Given the description of an element on the screen output the (x, y) to click on. 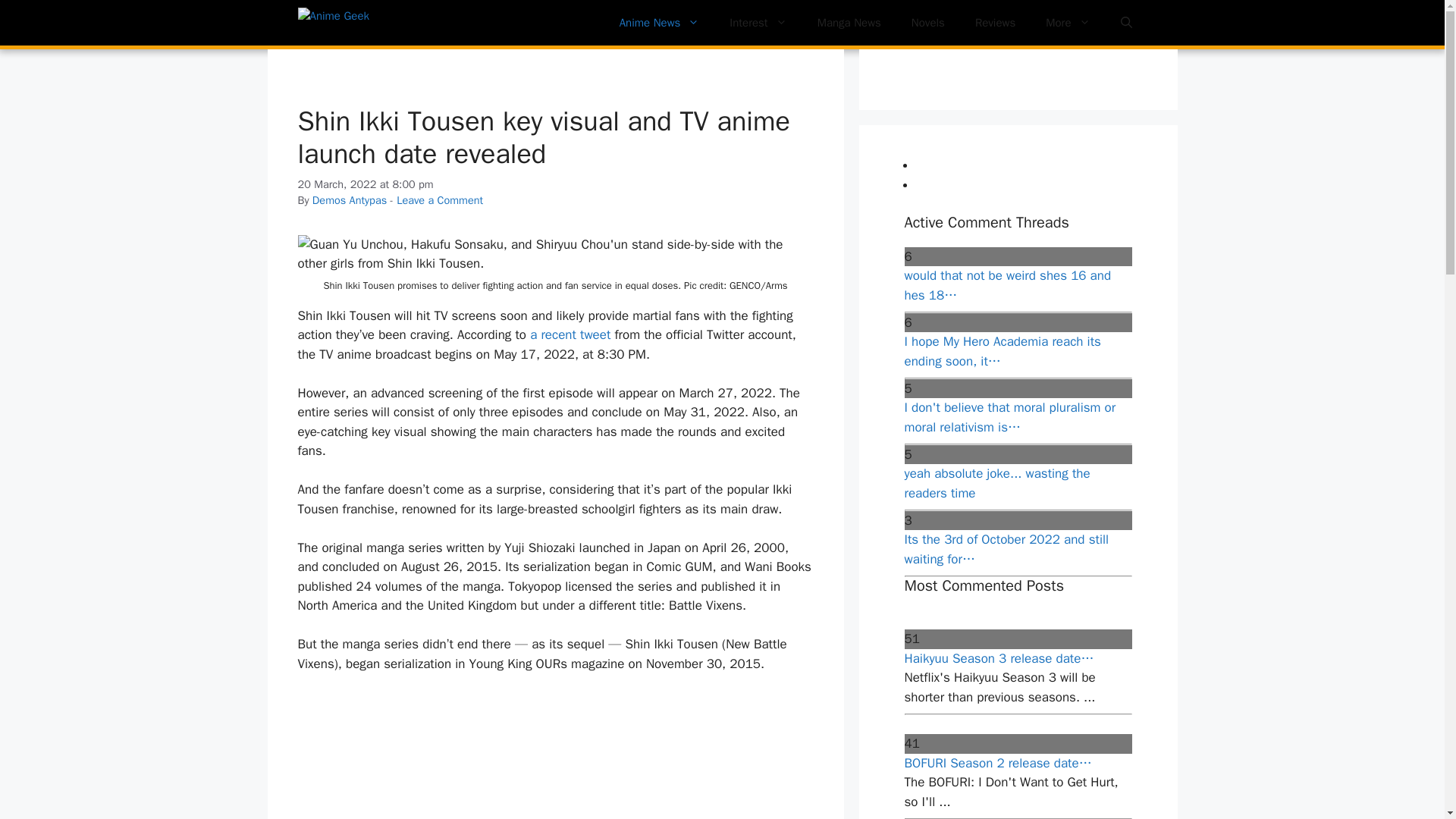
Reviews (994, 22)
Novels (927, 22)
6 (1017, 322)
Most active comment threads (1027, 165)
Demos Antypas (350, 200)
Leave a Comment (439, 200)
More (1067, 22)
Most commented posts (1027, 184)
Anime Geek (372, 22)
Manga News (849, 22)
Interest (758, 22)
a recent tweet (569, 334)
Anime News (659, 22)
View all posts by Demos Antypas (350, 200)
6 (1017, 256)
